Given the description of an element on the screen output the (x, y) to click on. 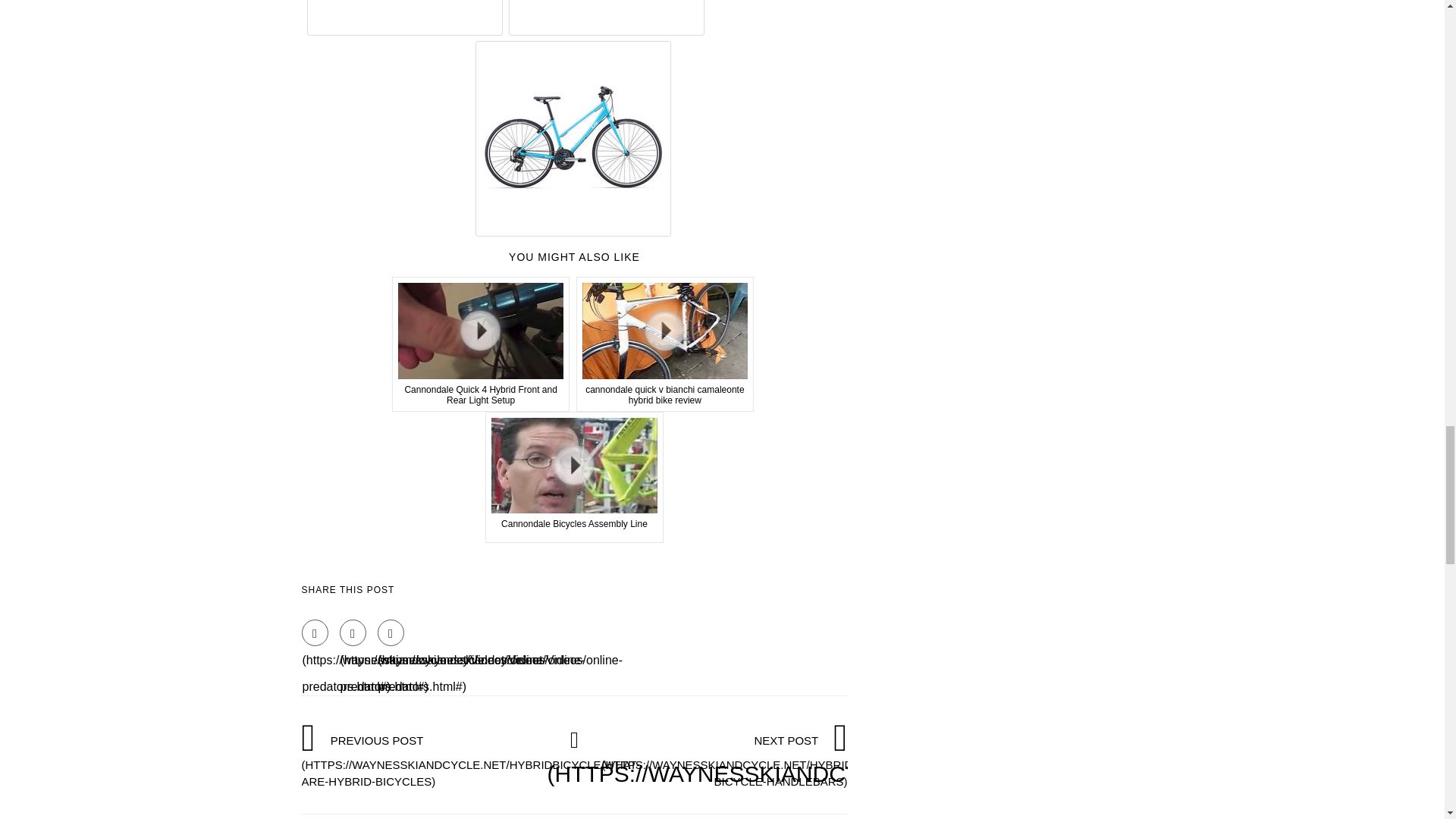
View this video from YouTube (665, 343)
PREVIOUS POST (470, 760)
View this video from WN (573, 476)
Google Plus (390, 632)
Twitter (352, 632)
Facebook (315, 632)
View this video from YouTube (480, 343)
NEXT POST (777, 760)
